Given the description of an element on the screen output the (x, y) to click on. 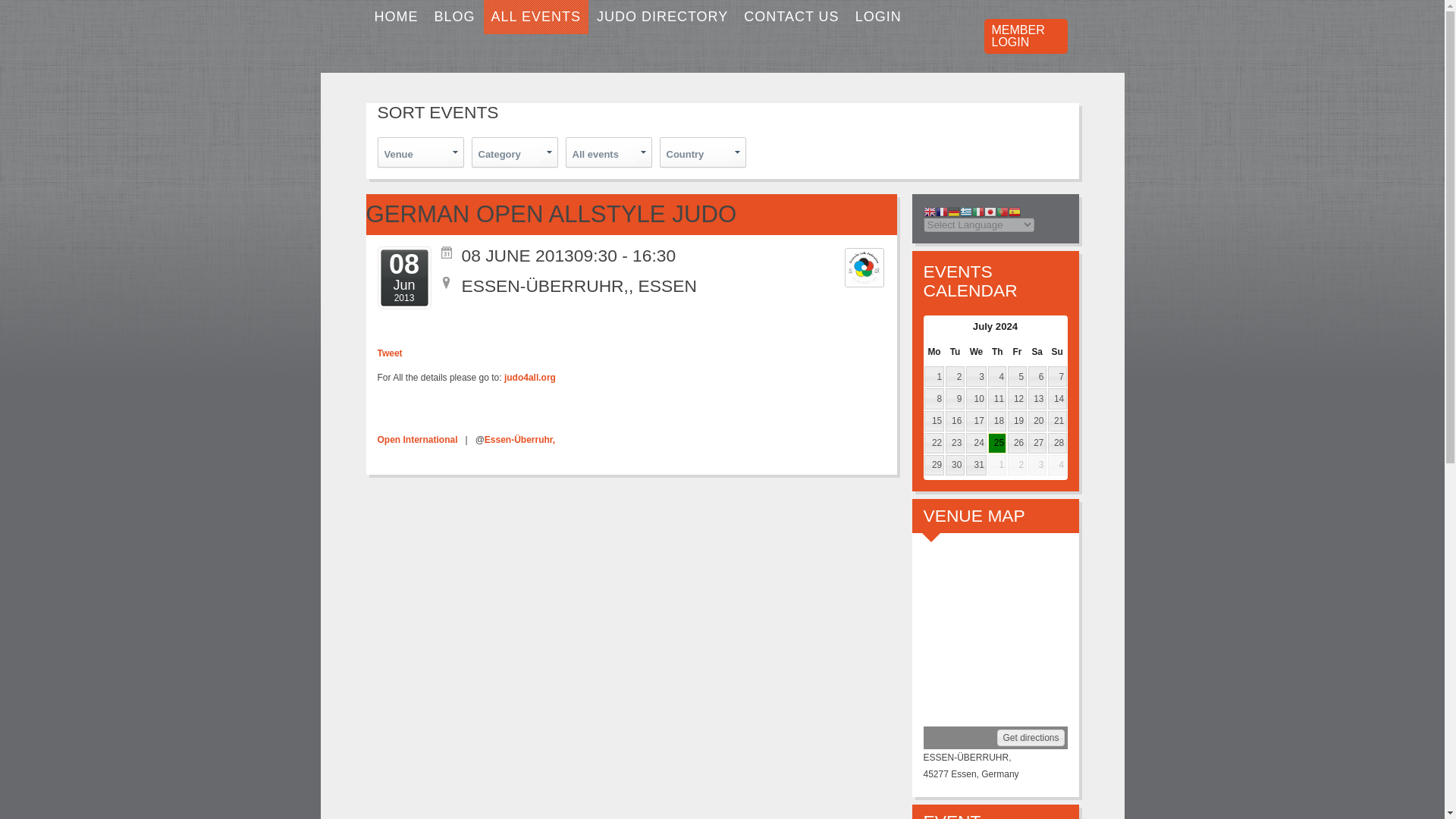
18 (997, 421)
French (941, 213)
3 (976, 376)
8 (933, 398)
Prev (933, 325)
Italian (978, 213)
14 (1057, 398)
Wednesday (976, 351)
4 (997, 376)
1 (933, 376)
Monday (933, 351)
Saturday (1036, 351)
Greek (965, 213)
LOGIN (877, 17)
Japanese (989, 213)
